Given the description of an element on the screen output the (x, y) to click on. 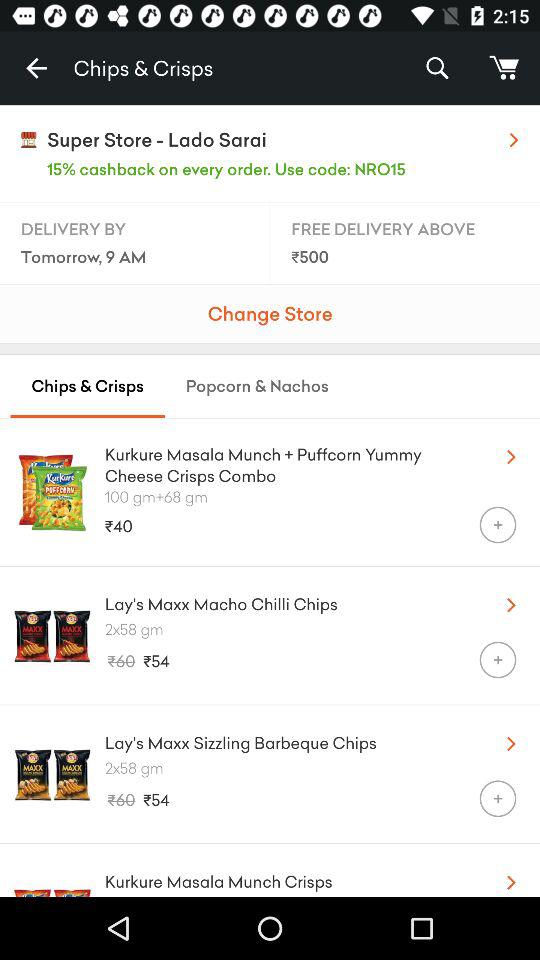
launch % icon (436, 67)
